Given the description of an element on the screen output the (x, y) to click on. 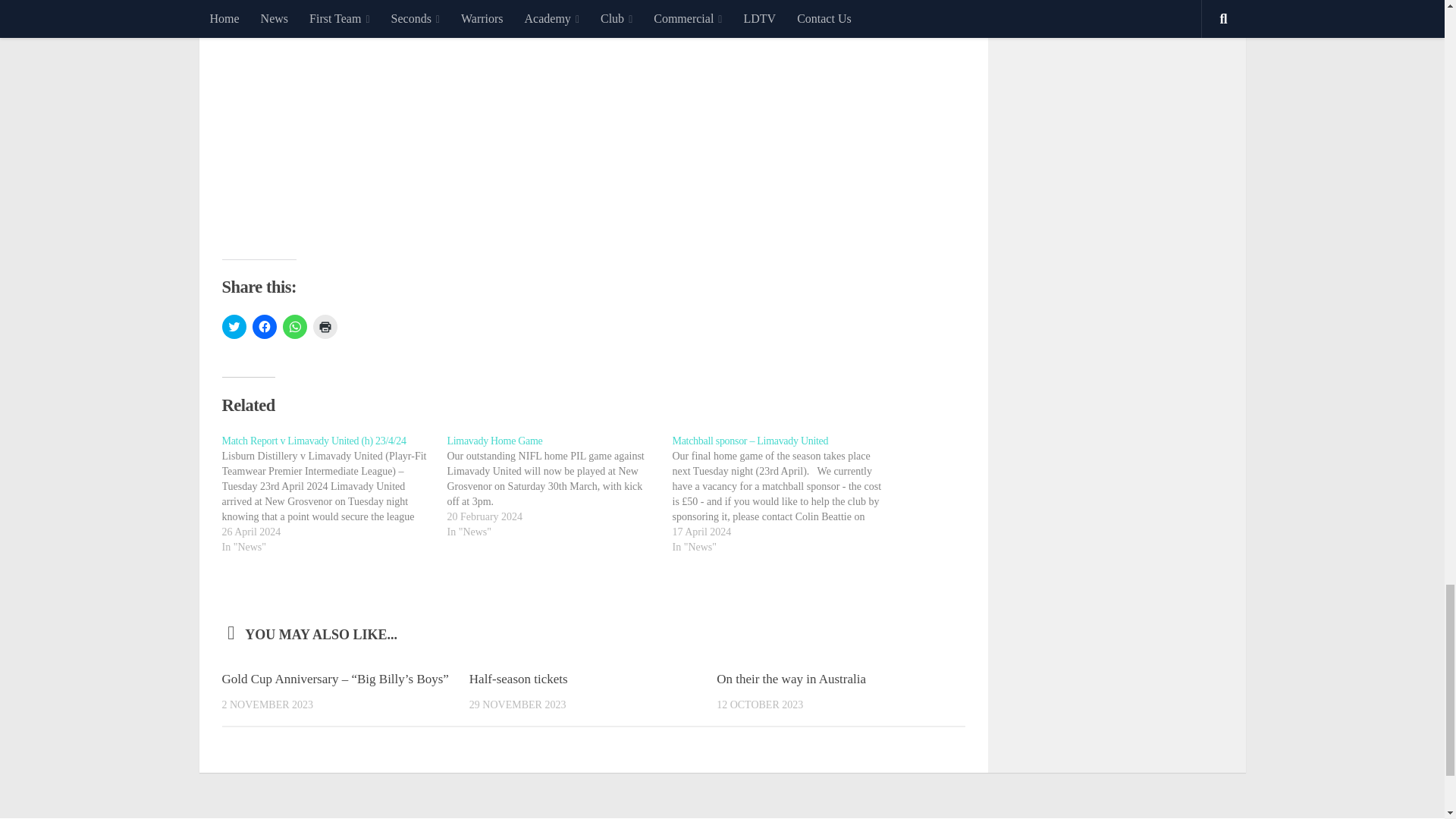
Click to print (324, 326)
Click to share on WhatsApp (293, 326)
Click to share on Twitter (233, 326)
Click to share on Facebook (263, 326)
Limavady Home Game (559, 486)
Limavady Home Game (494, 440)
